Given the description of an element on the screen output the (x, y) to click on. 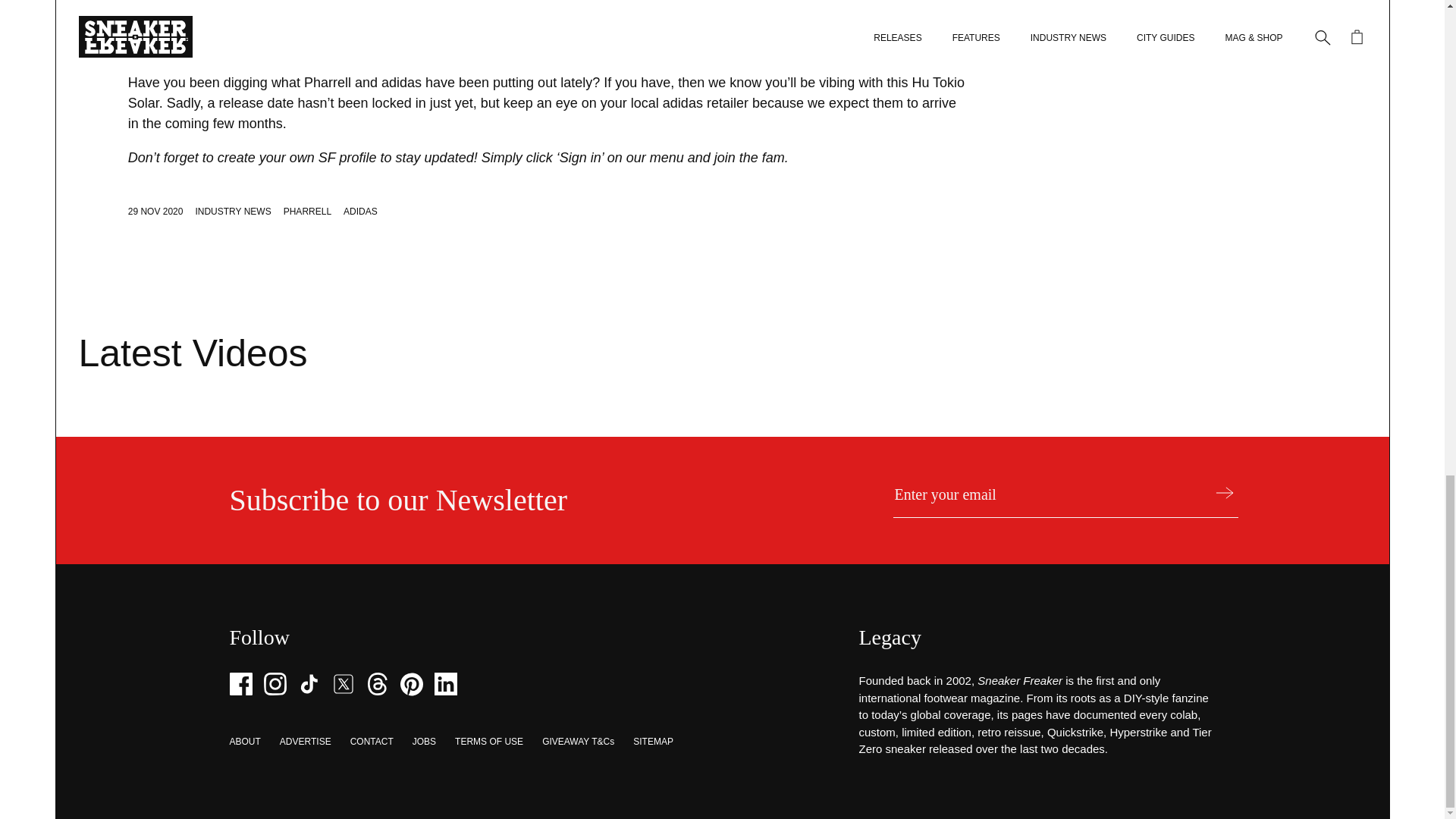
ADVERTISE (305, 741)
JOBS (423, 741)
ABOUT (244, 741)
PHARRELL (307, 211)
INDUSTRY NEWS (232, 211)
SITEMAP (652, 741)
ADIDAS (360, 211)
CONTACT (371, 741)
TERMS OF USE (488, 741)
